Given the description of an element on the screen output the (x, y) to click on. 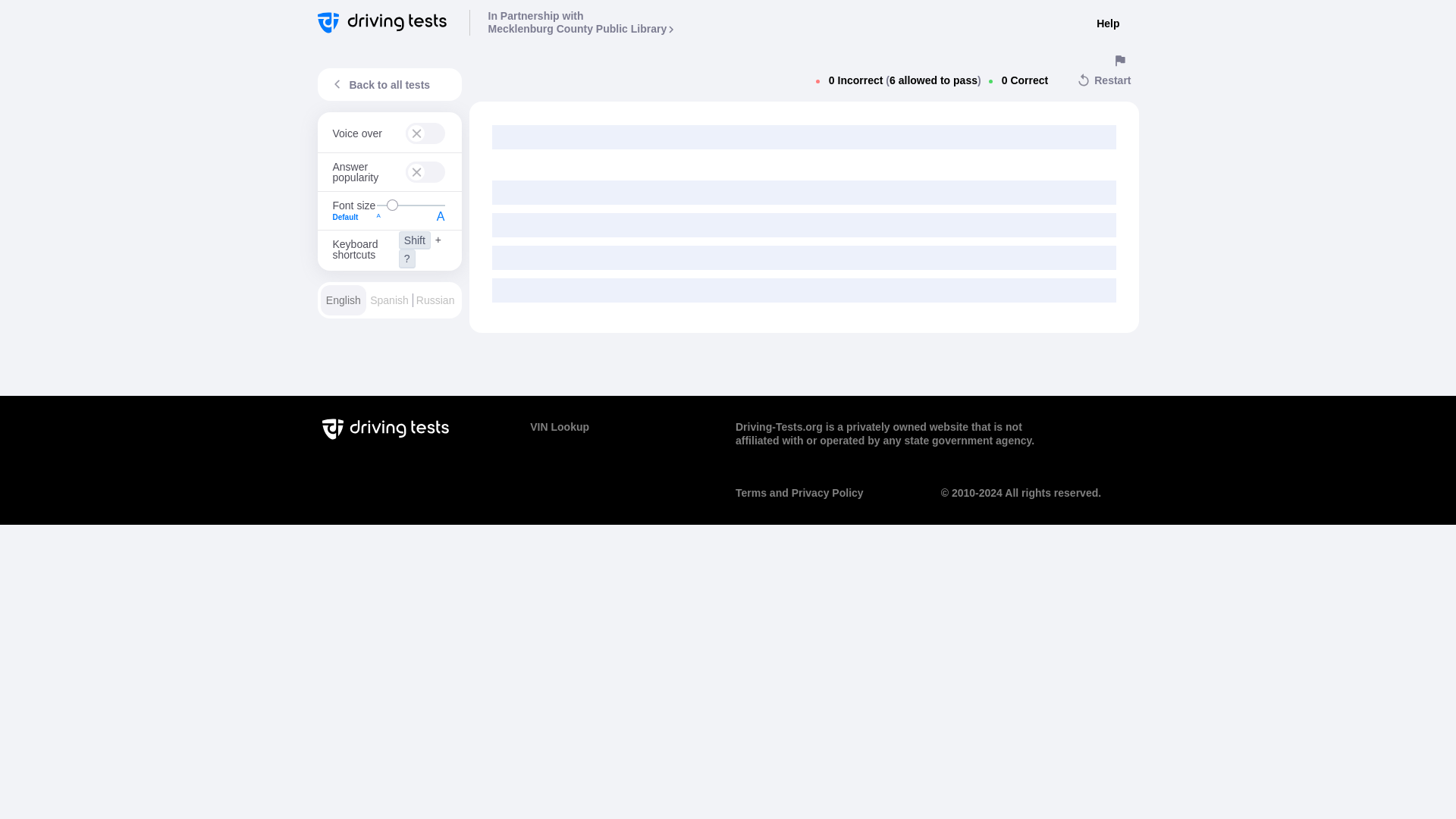
Help (1107, 23)
driving-tests.org (581, 22)
Default (384, 22)
160 (353, 217)
Back to all tests (409, 205)
